Given the description of an element on the screen output the (x, y) to click on. 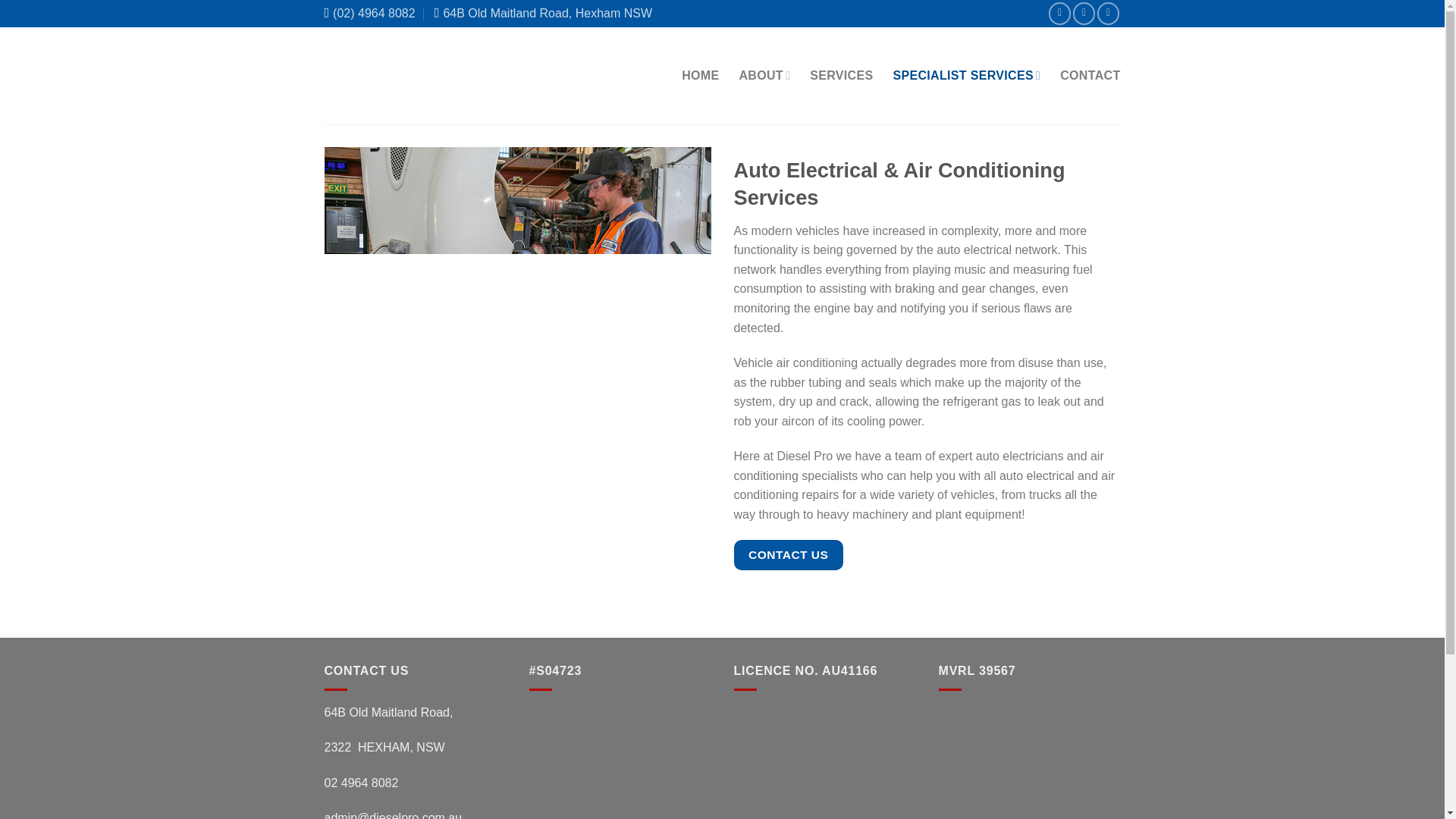
HOME (700, 75)
64B Old Maitland Road, Hexham NSW (547, 13)
CONTACT (1089, 75)
SPECIALIST SERVICES (966, 75)
CONTACT US (788, 554)
Follow on LinkedIn (1108, 13)
2322  HEXHAM, NSW (384, 747)
SERVICES (840, 75)
64B Old Maitland Road, (388, 712)
Follow on Instagram (1083, 13)
ABOUT (764, 75)
02 4964 8082 (361, 782)
Follow on Facebook (1059, 13)
